Given the description of an element on the screen output the (x, y) to click on. 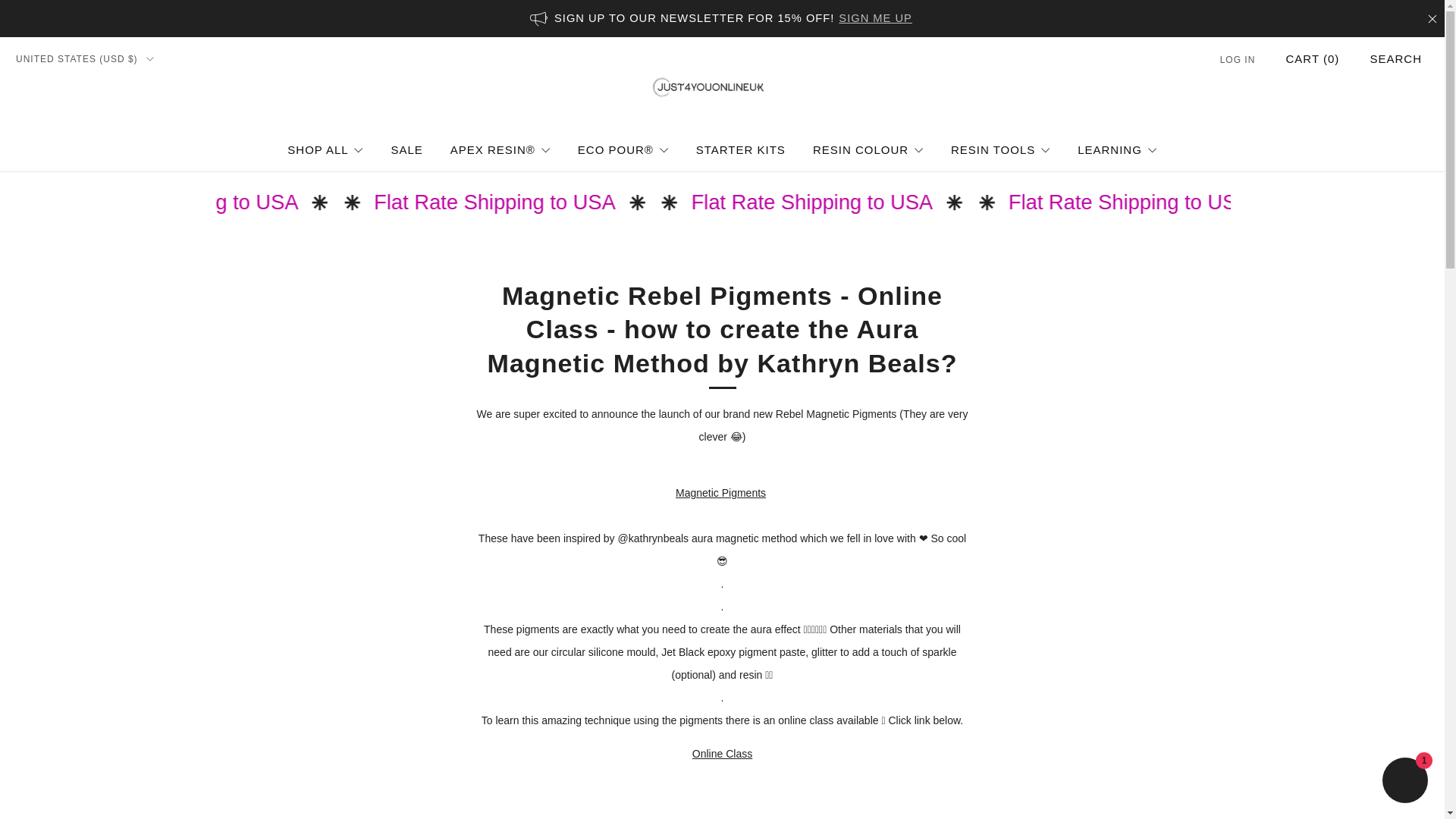
Flat Rate Shipping to USA (918, 202)
SIGN ME UP (875, 18)
SALE (406, 149)
SHOP ALL (324, 149)
Flat Rate Shipping to USA (301, 202)
Magnetic Pigments (720, 492)
Shopify online store chat (1404, 781)
RESIN TOOLS (999, 149)
Online Class (722, 753)
Flat Rate Shipping to USA (609, 202)
Flat Rate Shipping to USA (1228, 202)
LEARNING (1117, 149)
RESIN COLOUR (867, 149)
